Given the description of an element on the screen output the (x, y) to click on. 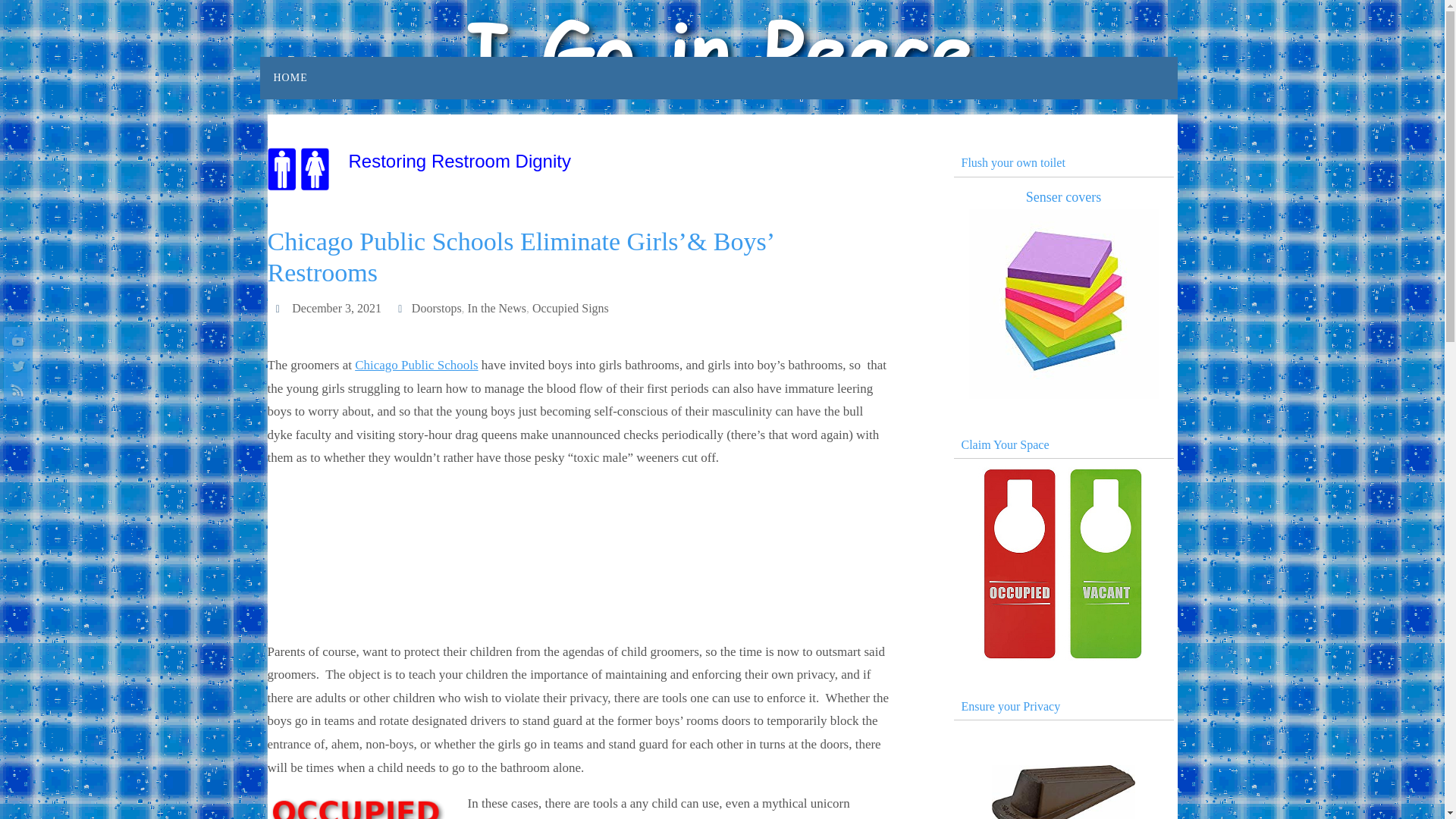
I Go in Peace (721, 50)
Doorstops (436, 308)
December 3, 2021 (336, 308)
In the News (496, 308)
Twitter (15, 365)
Categories (402, 308)
YouTube (15, 340)
Occupied Signs (570, 308)
RSS (15, 389)
Chicago Public Schools (416, 364)
Date (278, 308)
YouTube video player (577, 551)
HOME (289, 77)
